Given the description of an element on the screen output the (x, y) to click on. 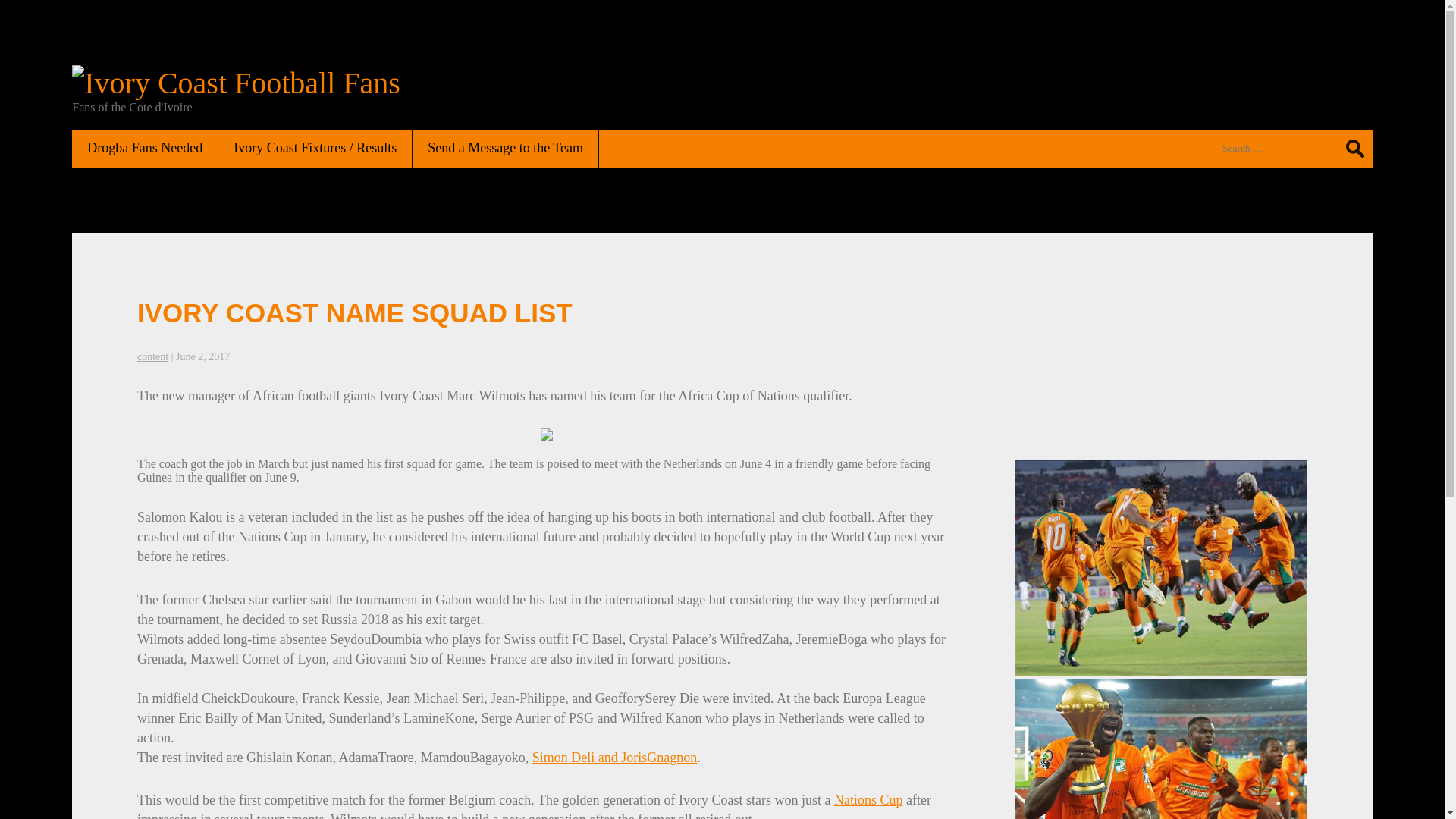
Drogba Fans Needed (144, 147)
IVORY COAST NAME SQUAD LIST (354, 312)
Simon Deli and JorisGnagnon (614, 757)
Posts by content (152, 356)
June 2, 2017 (203, 356)
Nations Cup (868, 799)
Ivory Coast Football Fans (235, 82)
IVORY COAST NAME SQUAD LIST (354, 312)
Ivory Coast Football Fans (235, 82)
content (152, 356)
